Given the description of an element on the screen output the (x, y) to click on. 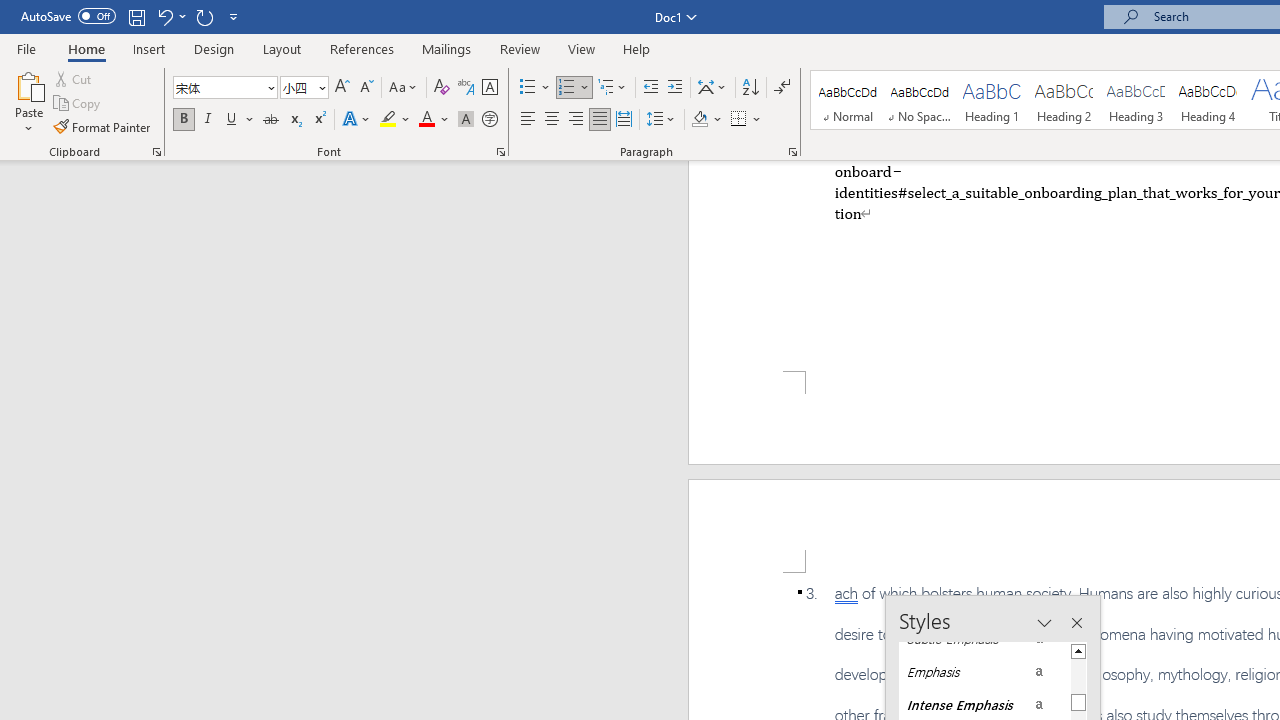
Heading 4 (1208, 100)
